Given the description of an element on the screen output the (x, y) to click on. 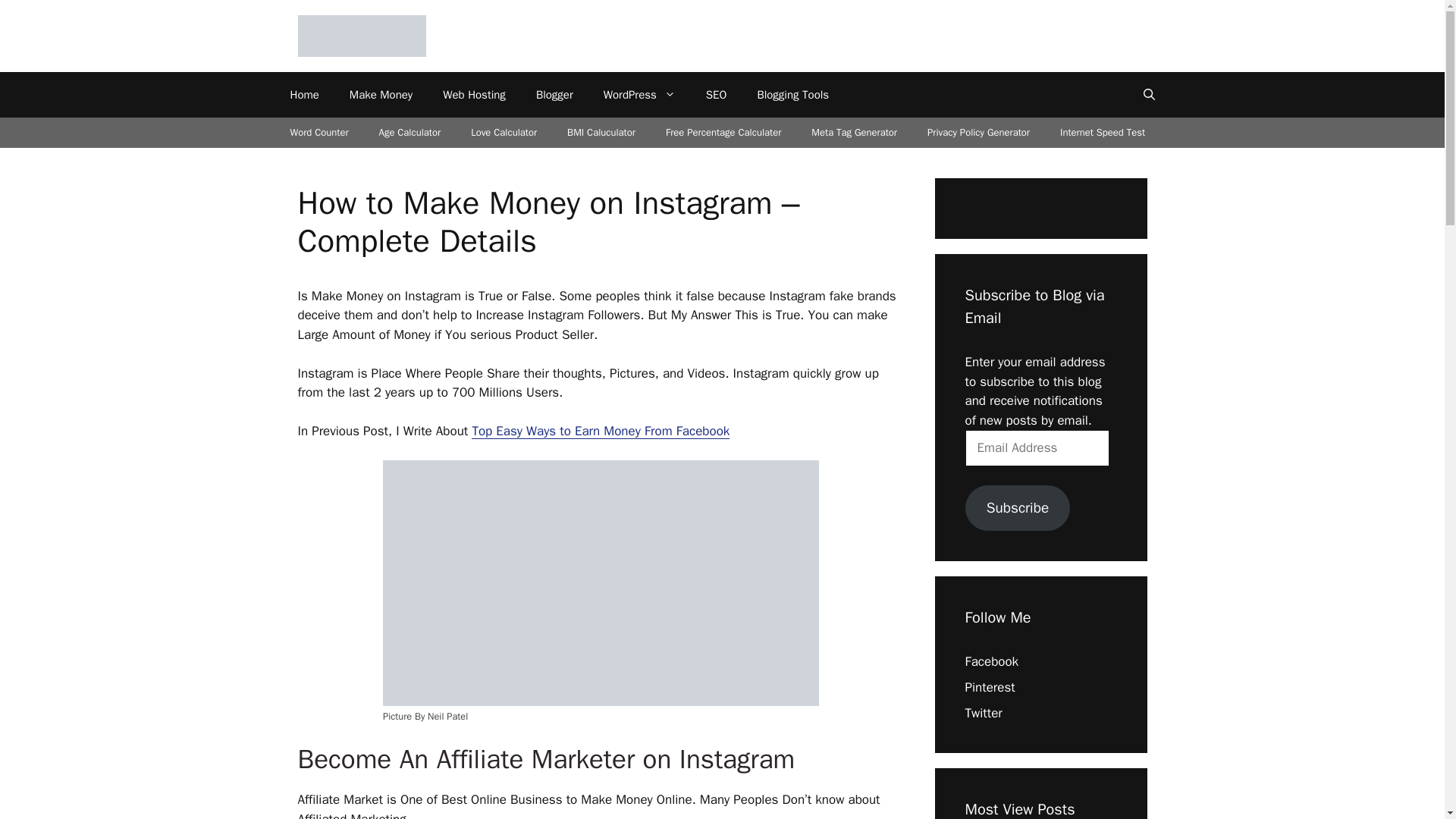
Age Calculator (410, 132)
Love Calculator (503, 132)
Web Hosting (474, 94)
Word Counter (318, 132)
Free Percentage Calculater (723, 132)
Meta Tag Generator (854, 132)
Subscribe (1016, 507)
How to Make Money on Instagram - Complete Details 1 (600, 582)
Top Easy Ways to Earn Money From Facebook (600, 430)
Pinterest (988, 687)
